Given the description of an element on the screen output the (x, y) to click on. 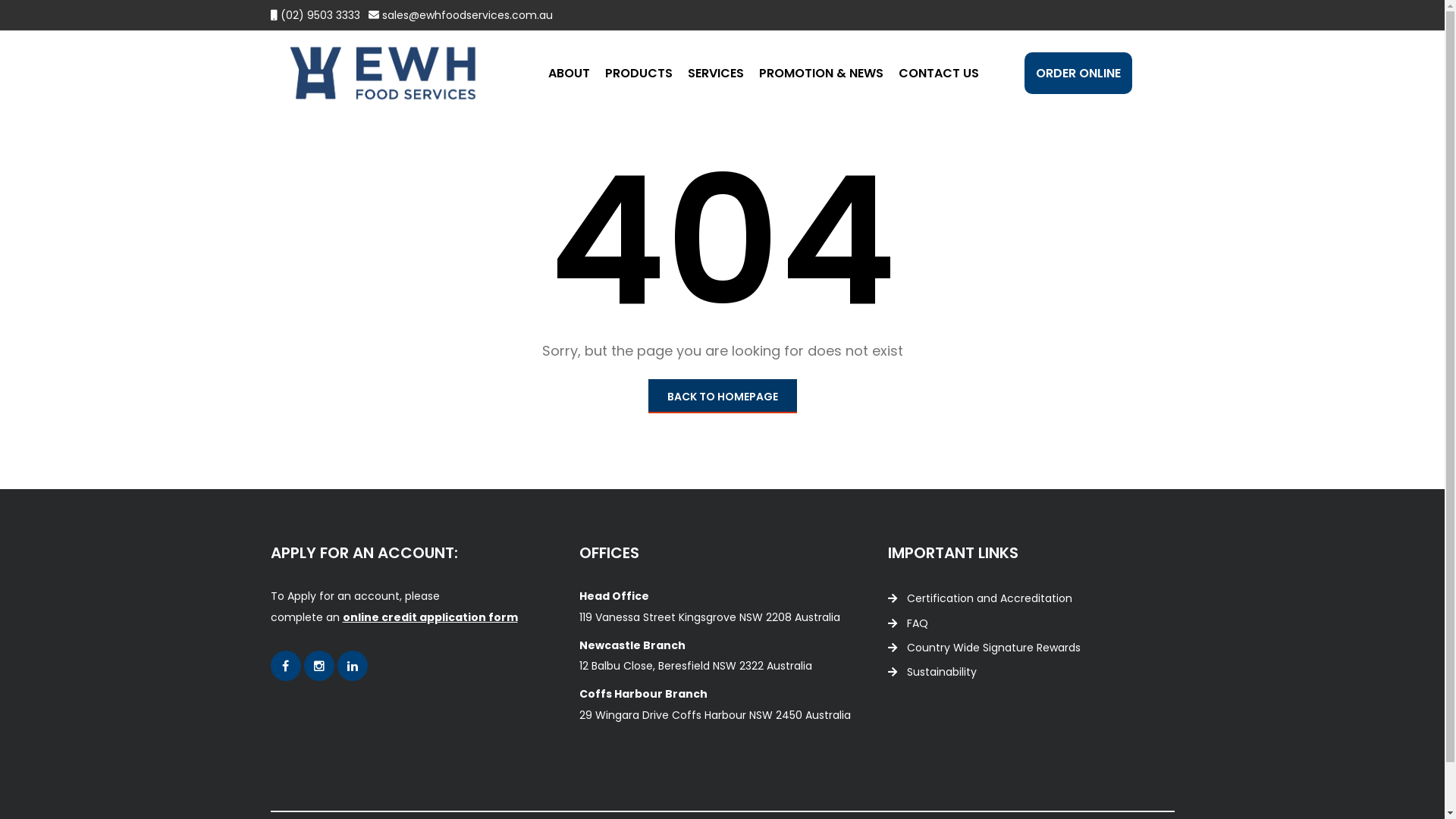
Certification and Accreditation Element type: text (980, 598)
ABOUT Element type: text (568, 72)
ORDER ONLINE Element type: text (1077, 72)
online credit application form Element type: text (429, 616)
Country Wide Signature Rewards Element type: text (984, 647)
BACK TO HOMEPAGE Element type: text (721, 396)
sales@ewhfoodservices.com.au Element type: text (467, 14)
PROMOTION & NEWS Element type: text (820, 72)
CONTACT US Element type: text (937, 72)
SERVICES Element type: text (715, 72)
PRODUCTS Element type: text (638, 72)
FAQ Element type: text (908, 623)
Sustainability Element type: text (932, 671)
